Given the description of an element on the screen output the (x, y) to click on. 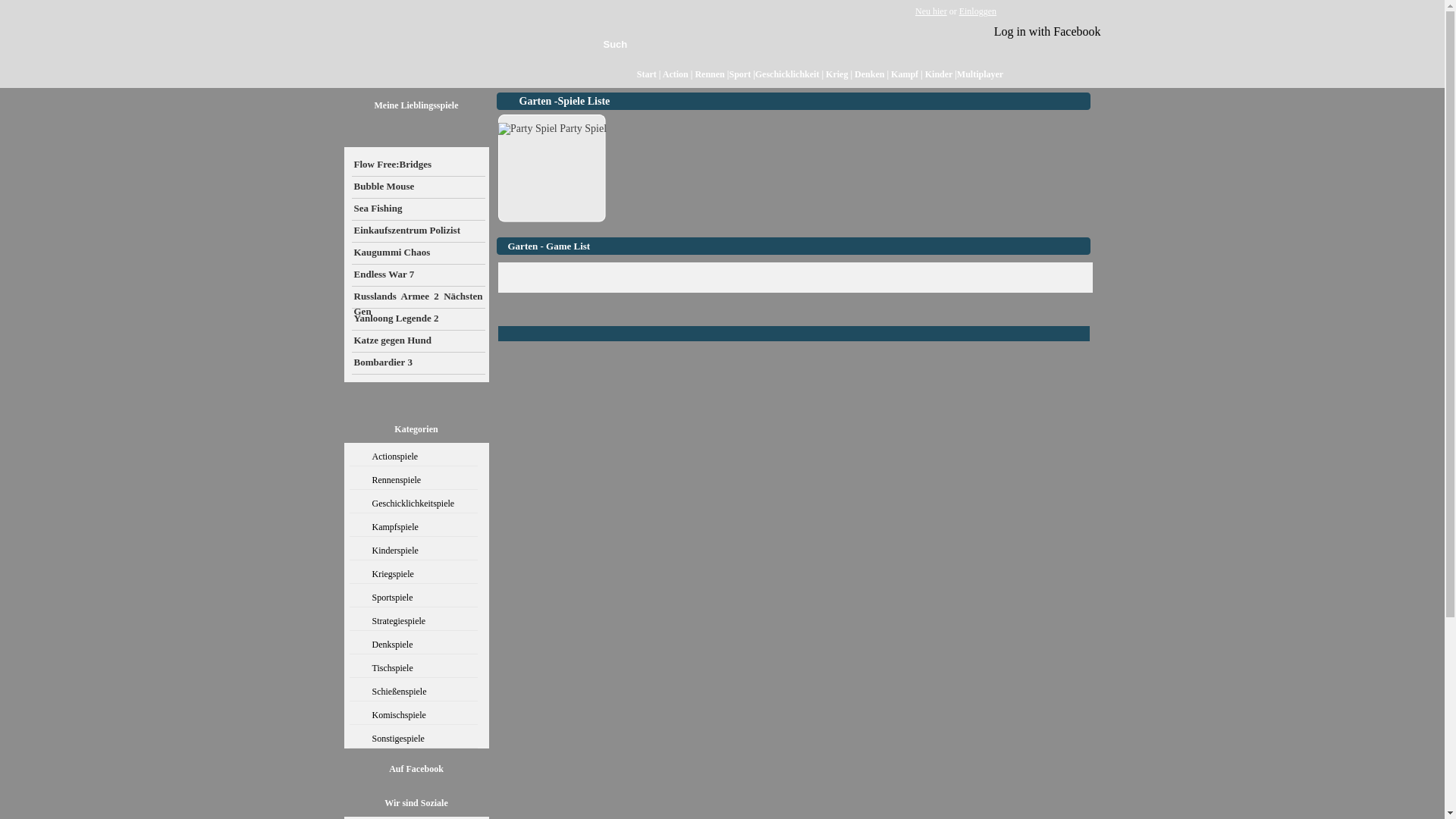
Kriegspiele Element type: text (412, 575)
Kinderspiele Element type: text (412, 552)
Bubble Mouse Element type: text (418, 187)
Einloggen Element type: text (977, 11)
Kampf Element type: text (905, 74)
Sea Fishing Element type: text (418, 209)
Denkspiele Element type: text (412, 646)
Komischspiele Element type: text (412, 716)
Endless War 7 Element type: text (418, 275)
Krieg Element type: text (836, 74)
Kampfspiele Element type: text (412, 528)
Neu hier Element type: text (931, 11)
Bombardier 3 Element type: text (418, 363)
Multiplayer Element type: text (980, 74)
Kaugummi Chaos Element type: text (418, 253)
Rennenspiele Element type: text (412, 481)
Sportspiele Element type: text (412, 599)
Einkaufszentrum Polizist Element type: text (418, 231)
Sonstigespiele Element type: text (412, 740)
Start Element type: text (646, 74)
Tischspiele Element type: text (412, 669)
Yanloong Legende 2 Element type: text (418, 319)
Party Spiel Element type: text (551, 128)
Katze gegen Hund Element type: text (418, 341)
Strategiespiele Element type: text (412, 622)
Sport Element type: text (739, 74)
Meine Lieblingsspiele Element type: text (416, 105)
Denken Element type: text (869, 74)
Actionspiele Element type: text (412, 458)
Rennen Element type: text (709, 74)
Kinder Element type: text (939, 74)
Geschicklichkeit Element type: text (787, 74)
Most Played Games Element type: text (833, 43)
Flow Free:Bridges Element type: text (418, 165)
Geschicklichkeitspiele Element type: text (412, 505)
Action Element type: text (675, 74)
